Given the description of an element on the screen output the (x, y) to click on. 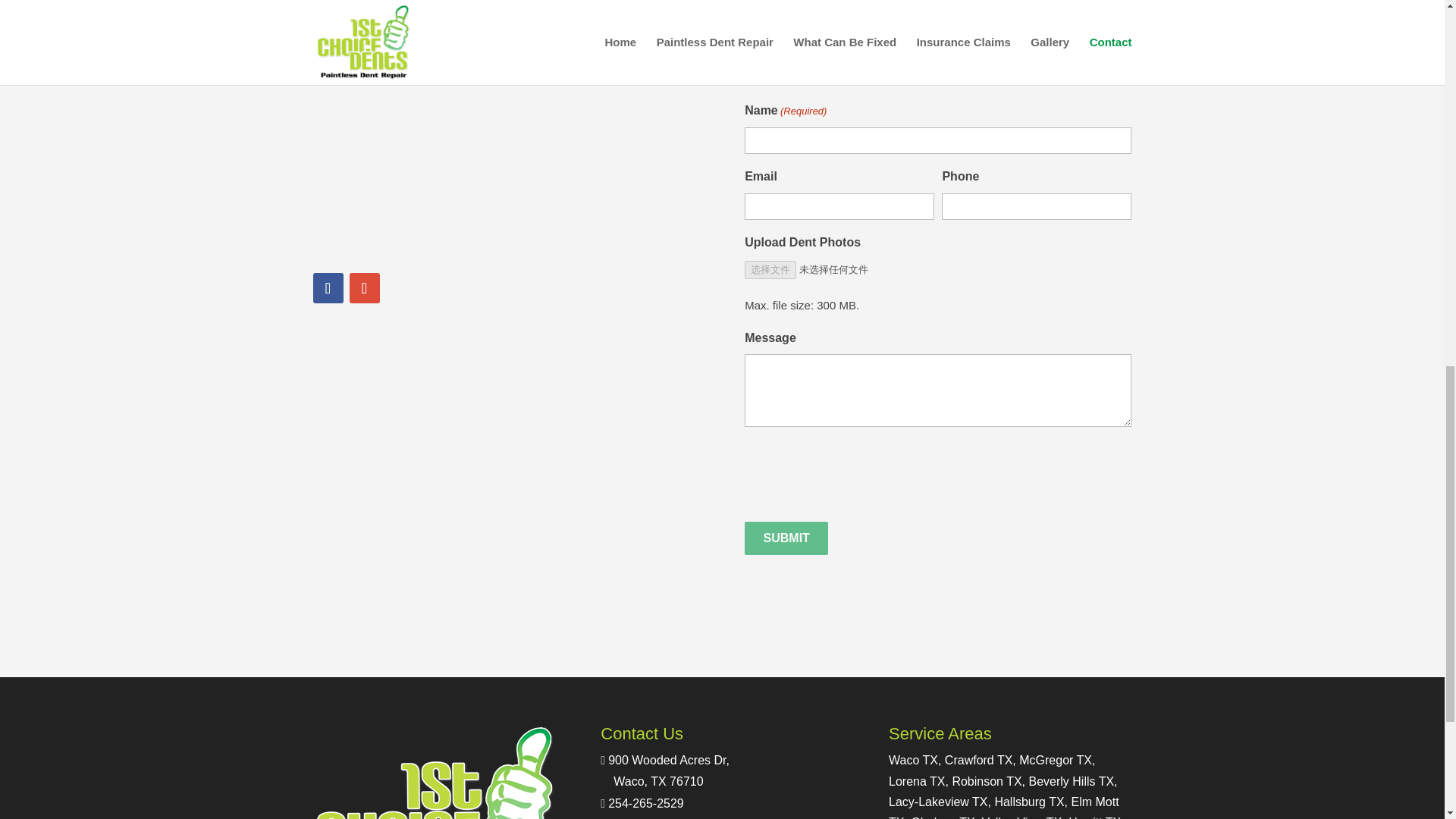
reCAPTCHA (664, 770)
Submit (859, 475)
Follow on google-plus (786, 538)
Submit (363, 287)
254-265-2529 (786, 538)
Follow on Facebook (646, 802)
